Given the description of an element on the screen output the (x, y) to click on. 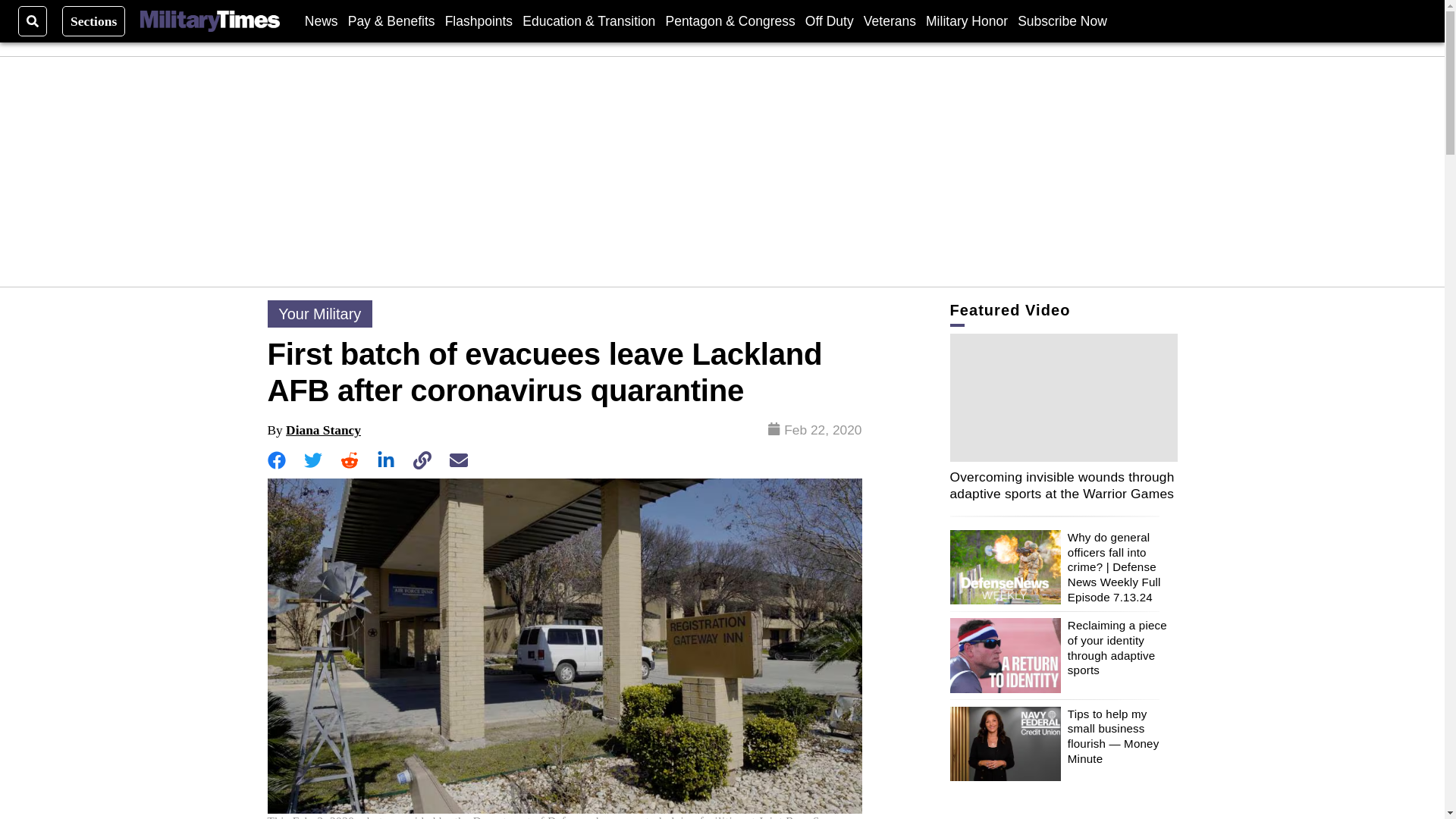
Military Times Logo (209, 20)
News (320, 20)
Sections (93, 20)
Flashpoints (479, 20)
Military Honor (966, 20)
Veterans (889, 20)
Off Duty (829, 20)
